Given the description of an element on the screen output the (x, y) to click on. 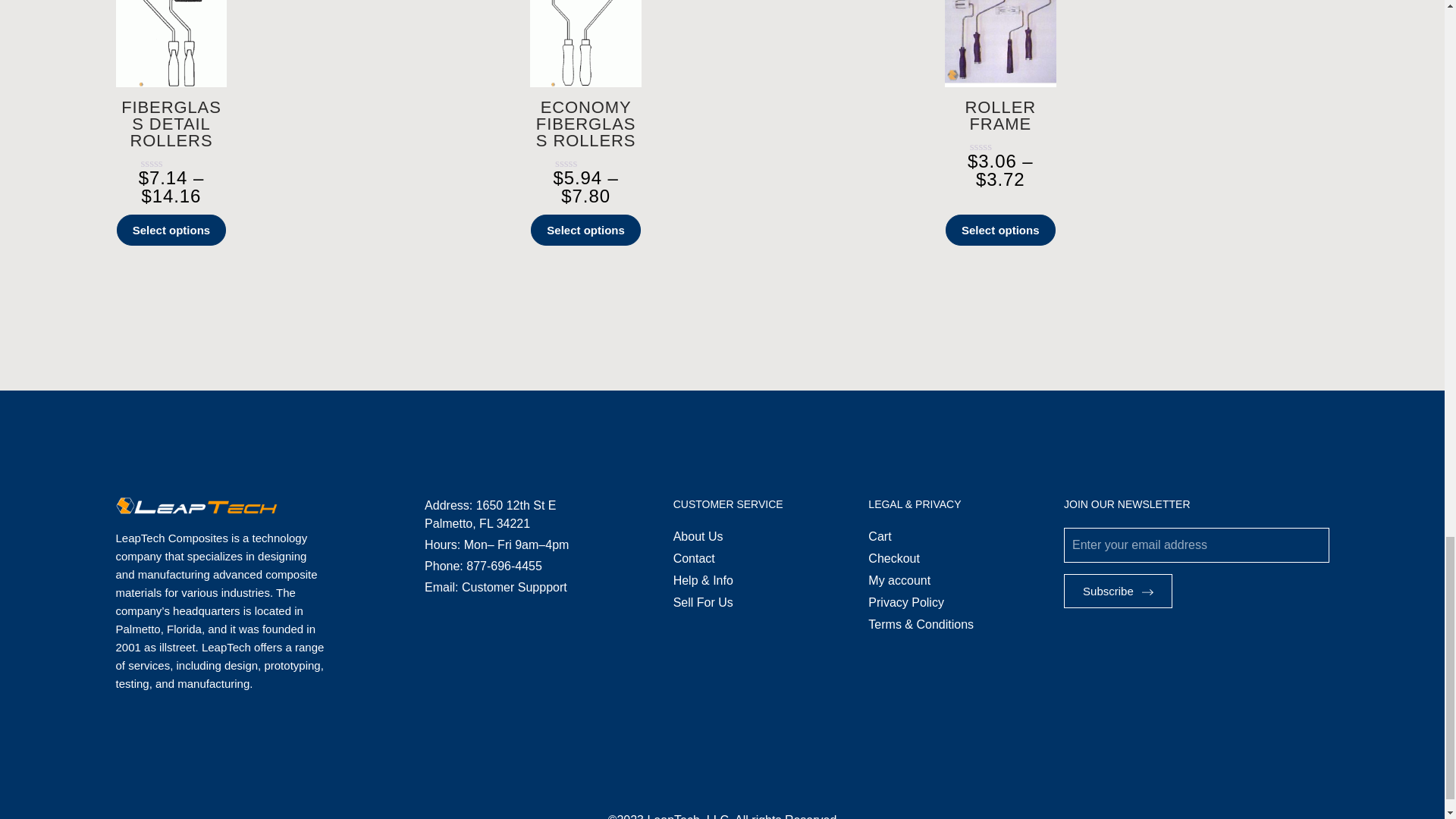
fgr3-500x500 - LeapTech Composite Materials and Parts (585, 43)
fgr4-500x500 - LeapTech Composite Materials and Parts (171, 43)
rollrhnd-500x500 - LeapTech Composite Materials and Parts (1000, 43)
